Given the description of an element on the screen output the (x, y) to click on. 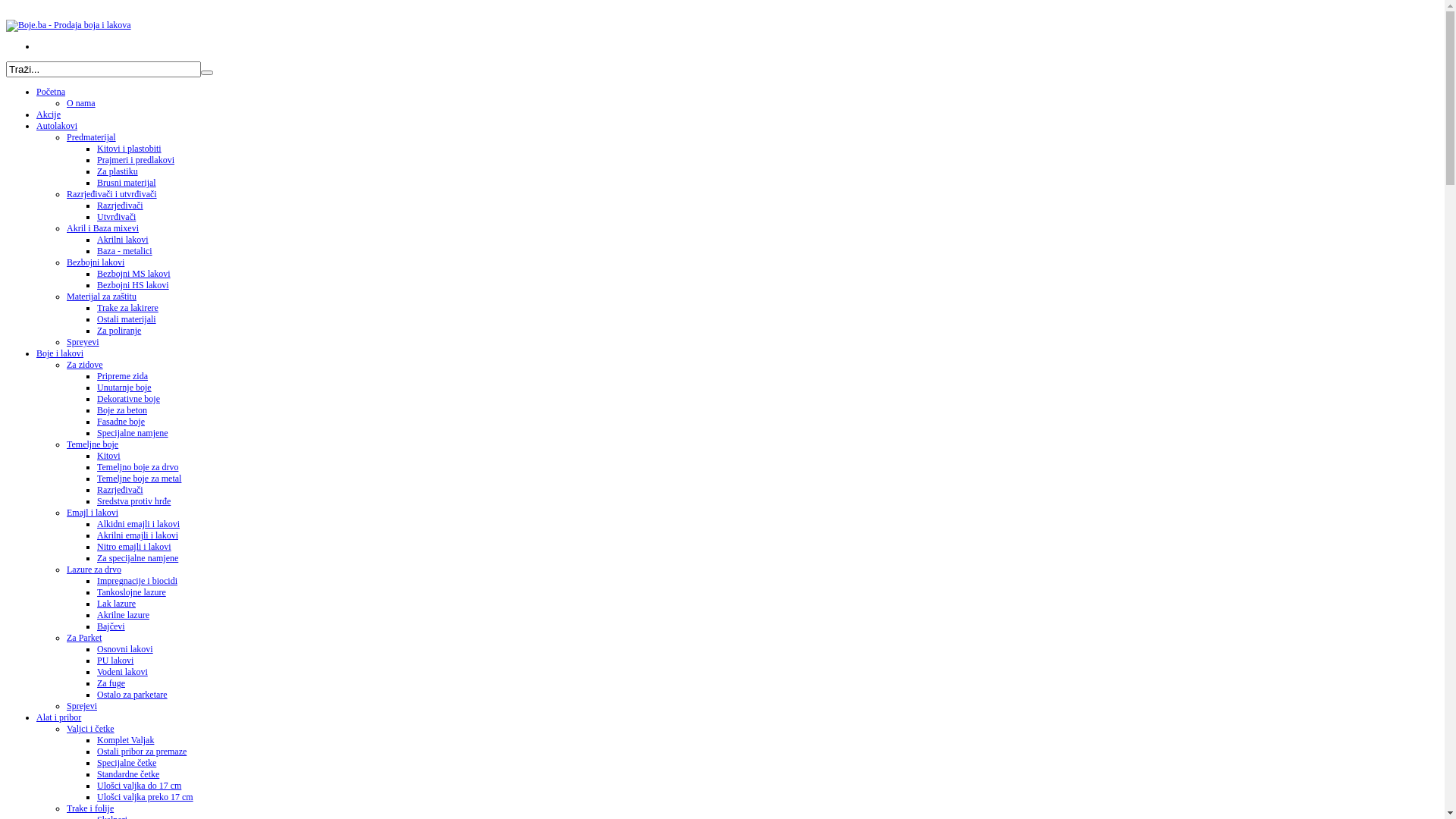
Ostalo za parketare Element type: text (132, 694)
Komplet Valjak Element type: text (125, 739)
Ostali materijali Element type: text (126, 318)
Emajl i lakovi Element type: text (92, 512)
Alkidni emajli i lakovi Element type: text (138, 523)
Temeljno boje za drvo Element type: text (137, 466)
Fasadne boje Element type: text (120, 421)
Akrilni lakovi Element type: text (122, 239)
Dekorativne boje Element type: text (128, 398)
Lak lazure Element type: text (116, 603)
Bezbojni MS lakovi Element type: text (133, 273)
Osnovni lakovi Element type: text (125, 648)
Akrilni emajli i lakovi Element type: text (137, 535)
Autolakovi Element type: text (56, 125)
Za zidove Element type: text (84, 364)
PU lakovi Element type: text (115, 660)
Alat i pribor Element type: text (58, 717)
Akrilne lazure Element type: text (123, 614)
Prajmeri i predlakovi Element type: text (135, 159)
Za Parket Element type: text (83, 637)
Akcije Element type: text (48, 114)
Ostali pribor za premaze Element type: text (141, 751)
Brusni materijal Element type: text (126, 182)
Temeljne boje za metal Element type: text (139, 478)
Za plastiku Element type: text (117, 171)
Nitro emajli i lakovi Element type: text (134, 546)
Za poliranje Element type: text (119, 330)
Boje i lakovi Element type: text (59, 353)
Za fuge Element type: text (111, 682)
Kitovi Element type: text (108, 455)
Predmaterijal Element type: text (91, 136)
Spreyevi Element type: text (82, 341)
Sprejevi Element type: text (81, 705)
Lazure za drvo Element type: text (93, 569)
Facebook Element type: hover (737, 46)
Trake za lakirere Element type: text (127, 307)
Za specijalne namjene Element type: text (137, 557)
Temeljne boje Element type: text (92, 444)
Kitovi i plastobiti Element type: text (129, 148)
Trake i folije Element type: text (89, 808)
Impregnacije i biocidi Element type: text (137, 580)
Pripreme zida Element type: text (122, 375)
Bezbojni HS lakovi Element type: text (133, 284)
Akril i Baza mixevi Element type: text (102, 227)
Boje.ba - Prodaja boja i lakova Element type: hover (68, 25)
Tankoslojne lazure Element type: text (131, 591)
Vodeni lakovi Element type: text (122, 671)
O nama Element type: text (80, 102)
Specijalne namjene Element type: text (132, 432)
Boje za beton Element type: text (122, 409)
Bezbojni lakovi Element type: text (95, 262)
Unutarnje boje Element type: text (124, 387)
Baza - metalici Element type: text (124, 250)
